Given the description of an element on the screen output the (x, y) to click on. 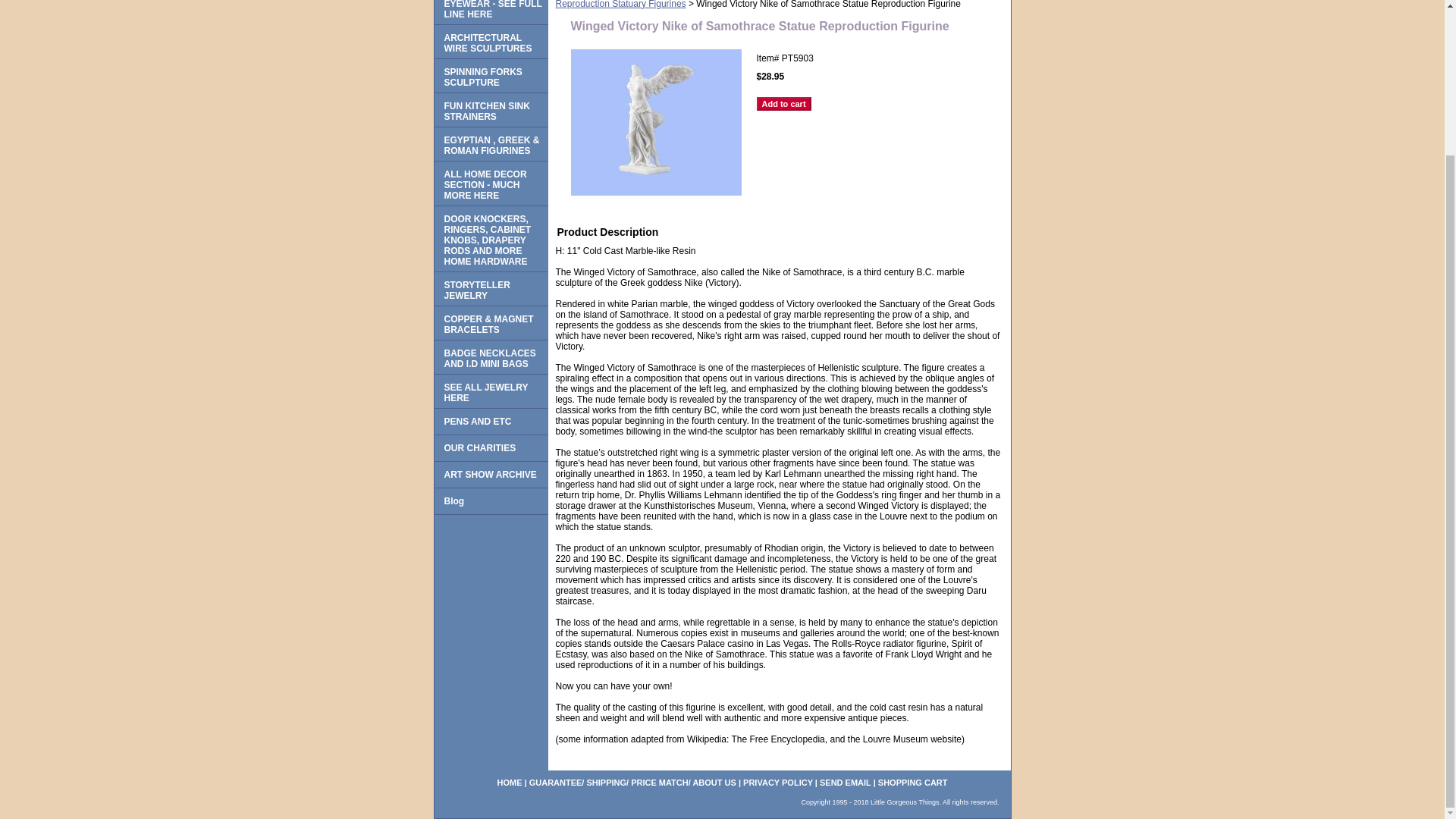
CliC MAGNETIC EYEWEAR - SEE FULL LINE HERE (490, 12)
SEND EMAIL (844, 782)
ART SHOW ARCHIVE (490, 474)
PRIVACY POLICY (777, 782)
SPINNING FORKS SCULPTURE (490, 75)
Add to cart (783, 103)
SEE ALL JEWELRY HERE (490, 391)
SEE ALL JEWELRY HERE (490, 391)
OUR CHARITIES (490, 447)
